Given the description of an element on the screen output the (x, y) to click on. 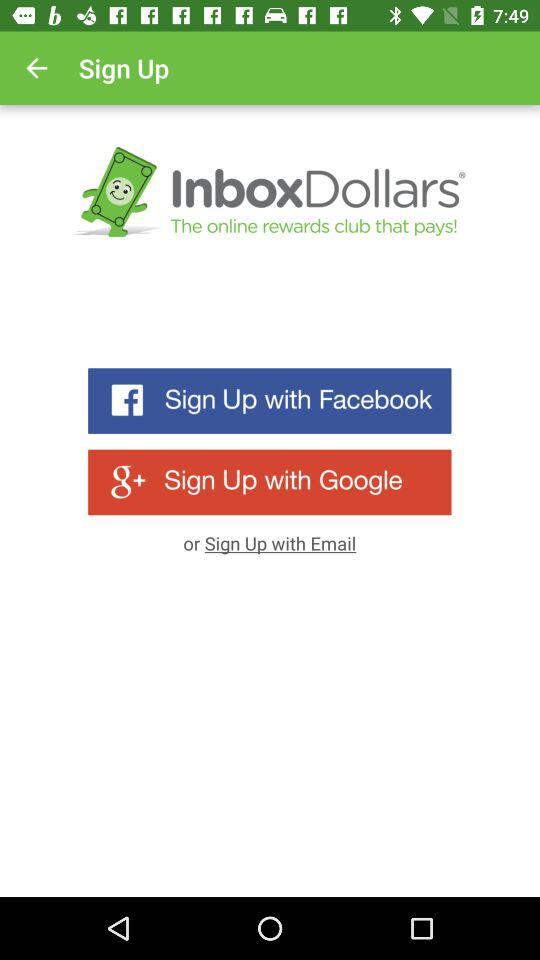
use the 'sign up with google button to register with inbox dollars site (269, 482)
